Given the description of an element on the screen output the (x, y) to click on. 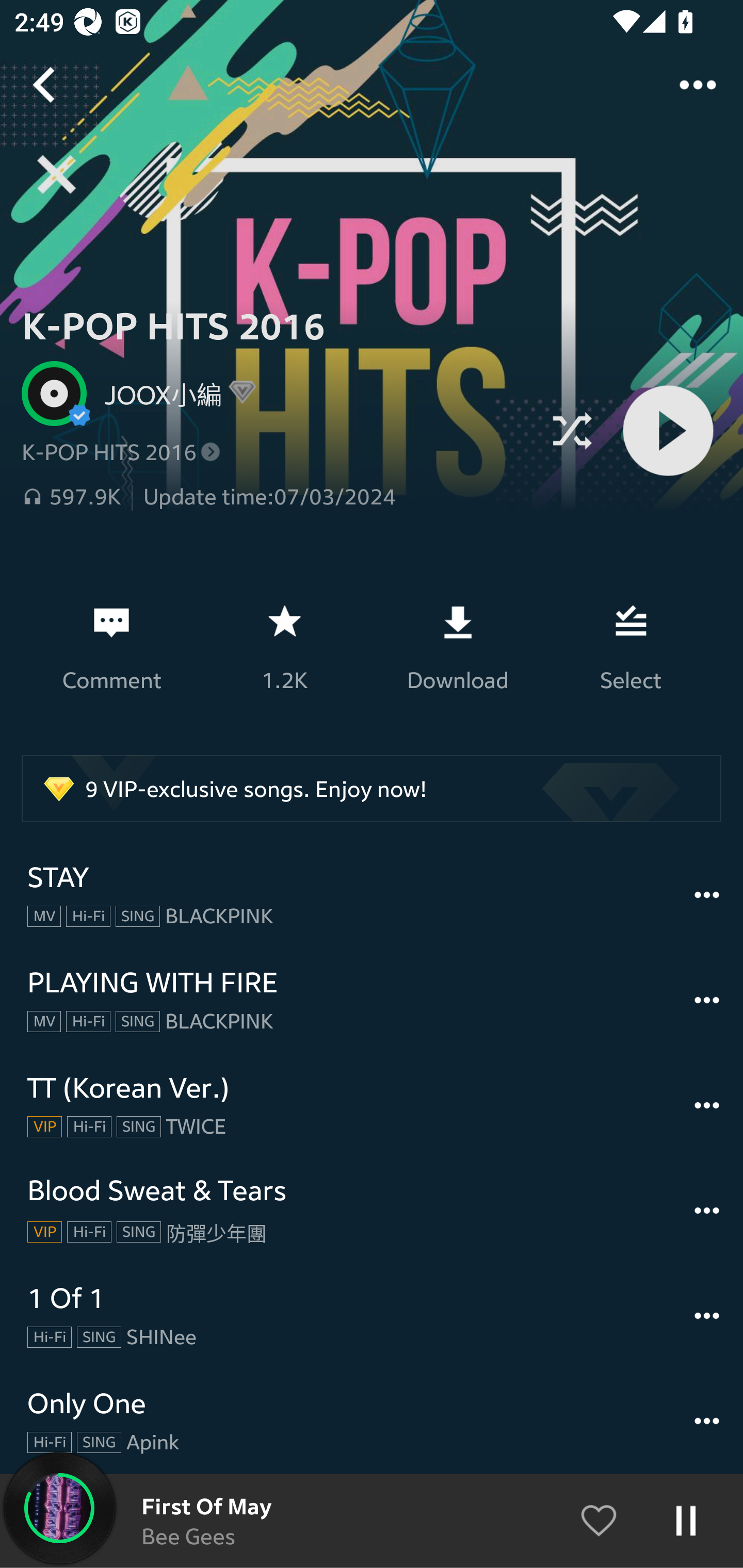
JOOX小編 (276, 393)
JOOX小編 (156, 393)
K-POP HITS 2016 597.9K Update time:07/03/2024 (276, 474)
Comment (111, 647)
1.2K (284, 647)
Download (457, 647)
Select (630, 647)
9 VIP-exclusive songs. Enjoy now! (371, 788)
STAY MV Hi-Fi SING BLACKPINK (371, 895)
PLAYING WITH FIRE MV Hi-Fi SING BLACKPINK (371, 1000)
TT (Korean Ver.) VIP Hi-Fi SING TWICE (371, 1105)
Blood Sweat & Tears VIP Hi-Fi SING 防彈少年團 (371, 1210)
1 Of 1 Hi-Fi SING SHINee (371, 1315)
Only One Hi-Fi SING Apink (371, 1420)
Lucky One (Korean Ver.) Hi-Fi EXO (371, 1520)
